Given the description of an element on the screen output the (x, y) to click on. 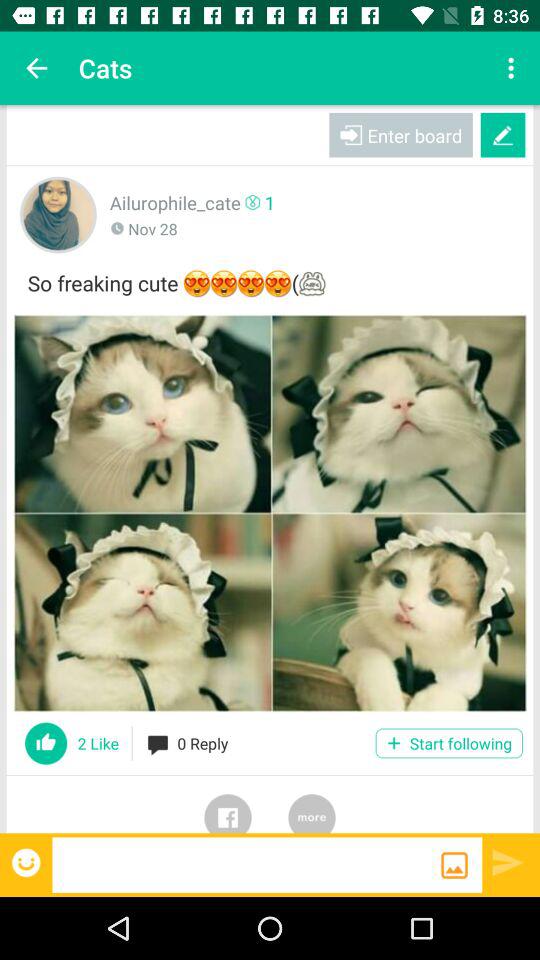
turn off the app to the right of cats app (513, 67)
